Given the description of an element on the screen output the (x, y) to click on. 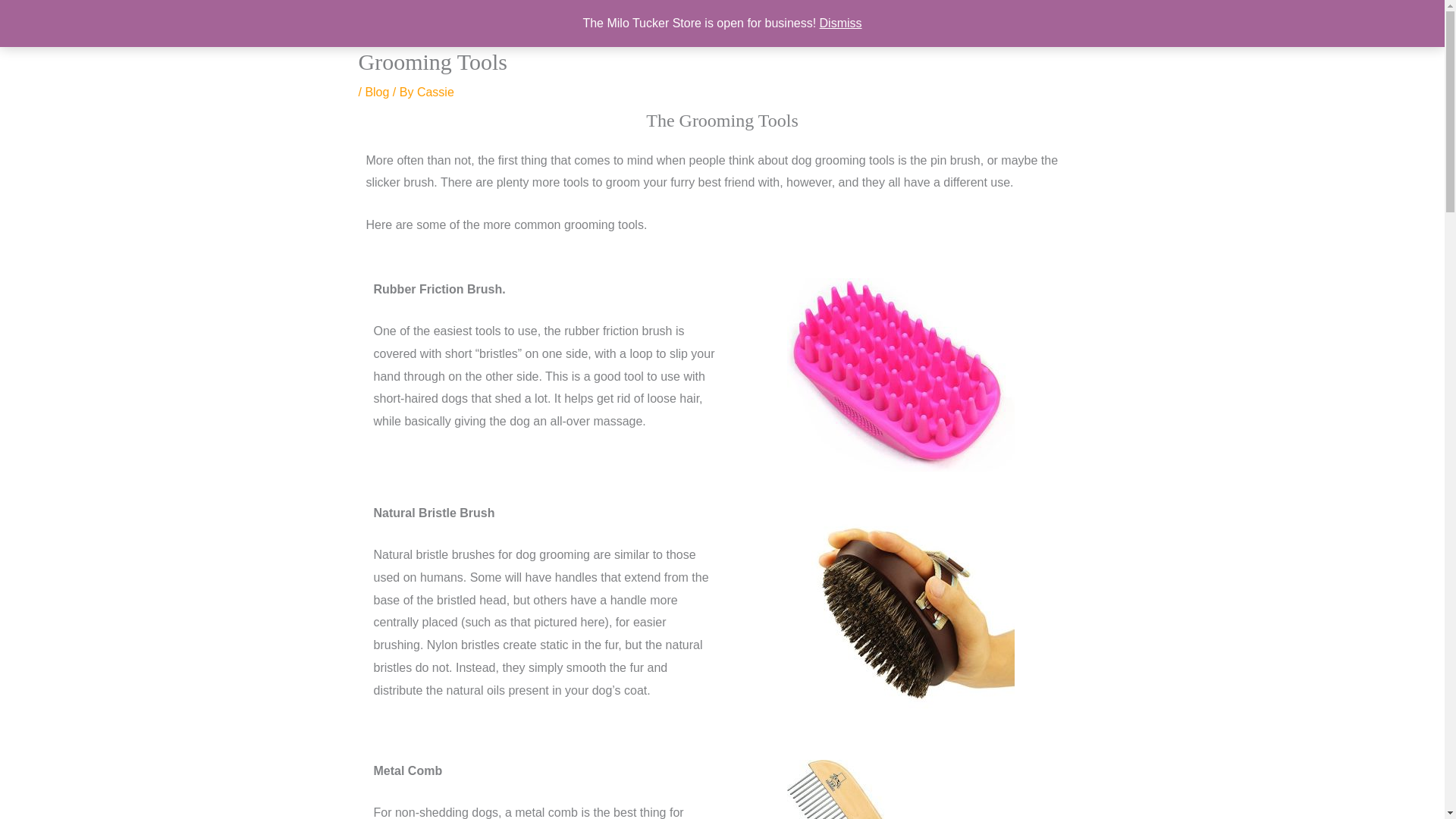
Meet the Kennel Clubs (646, 24)
The Dog Blog (922, 24)
About Us (376, 24)
View all posts by Cassie (435, 91)
Contact Us (461, 24)
Home (538, 24)
Your Breed (1025, 24)
Shop (836, 24)
Blog (376, 91)
Cassie (435, 91)
